Given the description of an element on the screen output the (x, y) to click on. 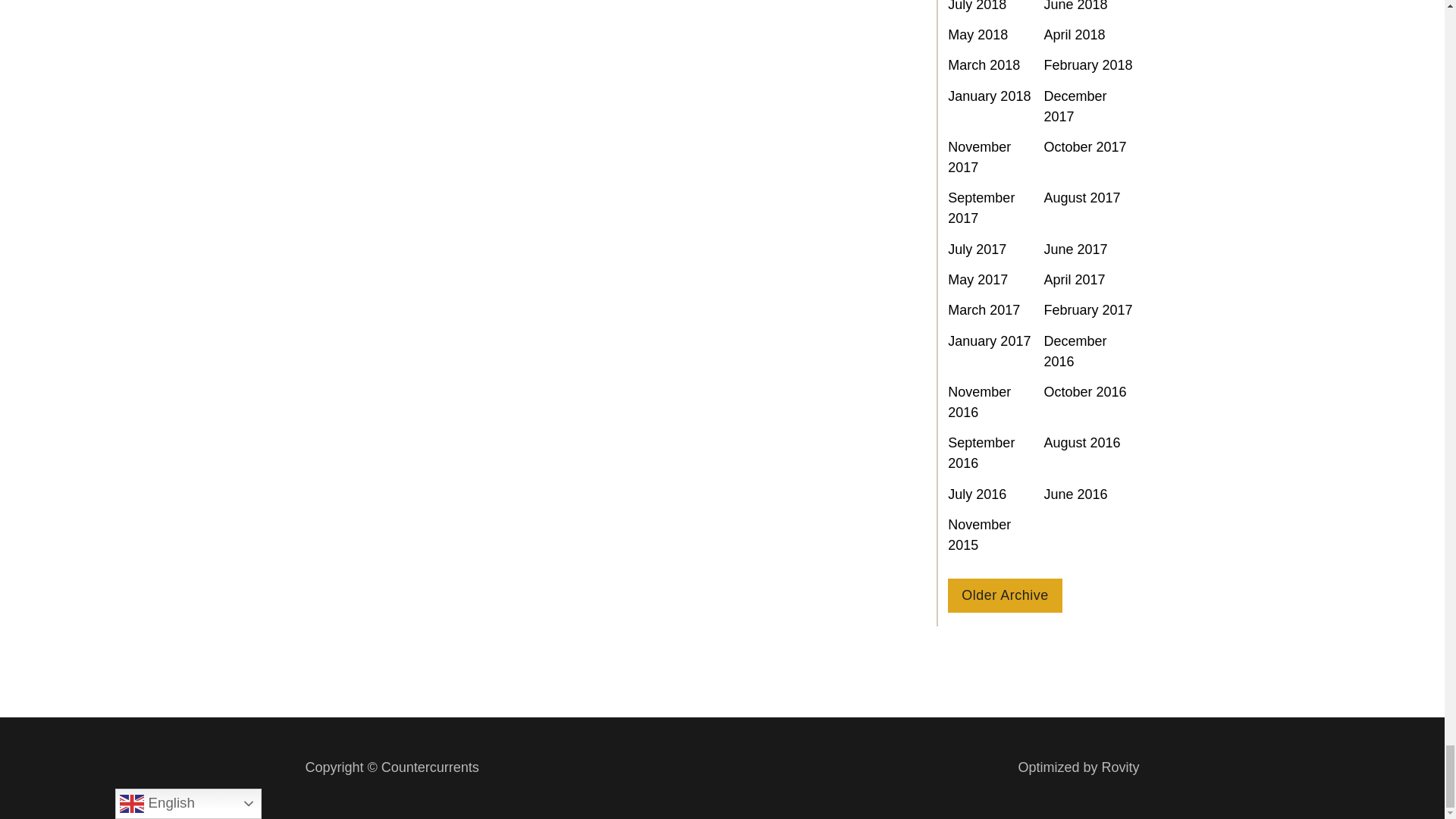
Rovity (1077, 767)
